Given the description of an element on the screen output the (x, y) to click on. 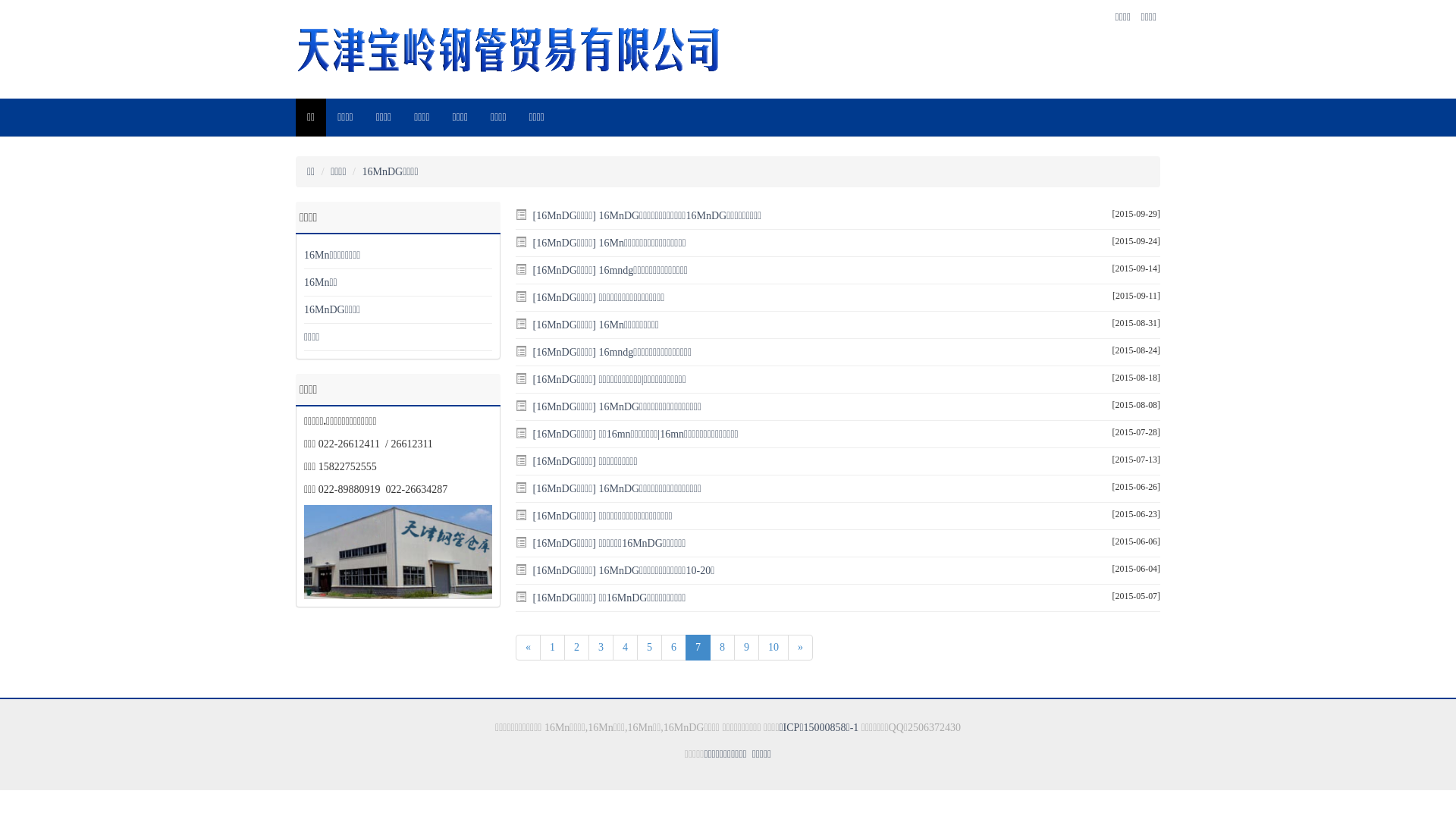
3 Element type: text (600, 647)
1529421013663449.jpg Element type: hover (398, 552)
5 Element type: text (649, 647)
1 Element type: text (551, 647)
8 Element type: text (721, 647)
6 Element type: text (673, 647)
4 Element type: text (624, 647)
2 Element type: text (576, 647)
10 Element type: text (773, 647)
9 Element type: text (746, 647)
